Given the description of an element on the screen output the (x, y) to click on. 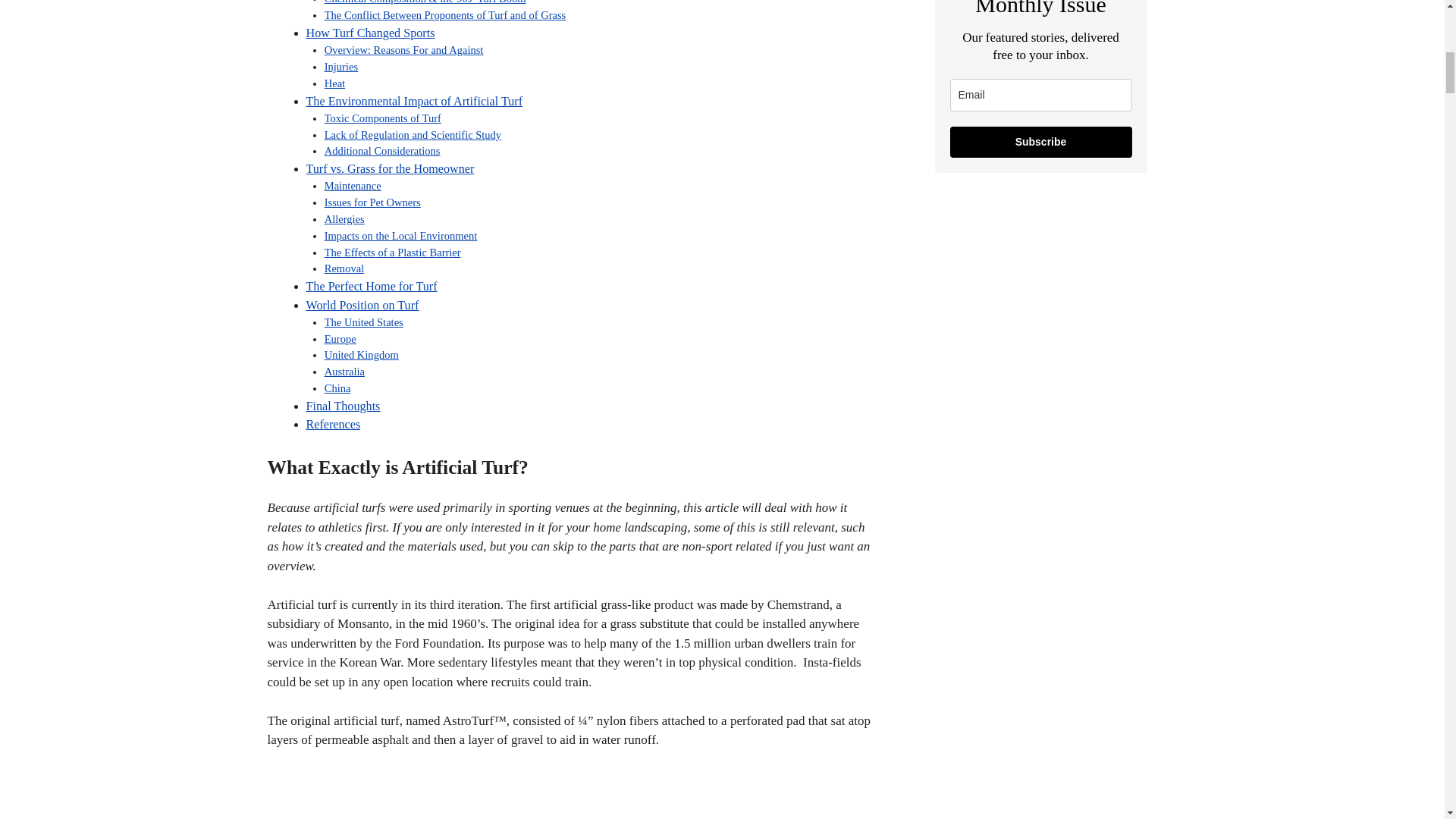
How Turf Changed Sports (370, 32)
How Turf Changed Sports (370, 32)
Overview: Reasons For and Against (403, 50)
Injuries (341, 66)
Heat (334, 82)
The Conflict Between Proponents of Turf and of Grass (445, 15)
Overview: Reasons For and Against (403, 50)
The Conflict Between Proponents of Turf and of Grass (445, 15)
Heat (334, 82)
Toxic Components of Turf (382, 118)
